Given the description of an element on the screen output the (x, y) to click on. 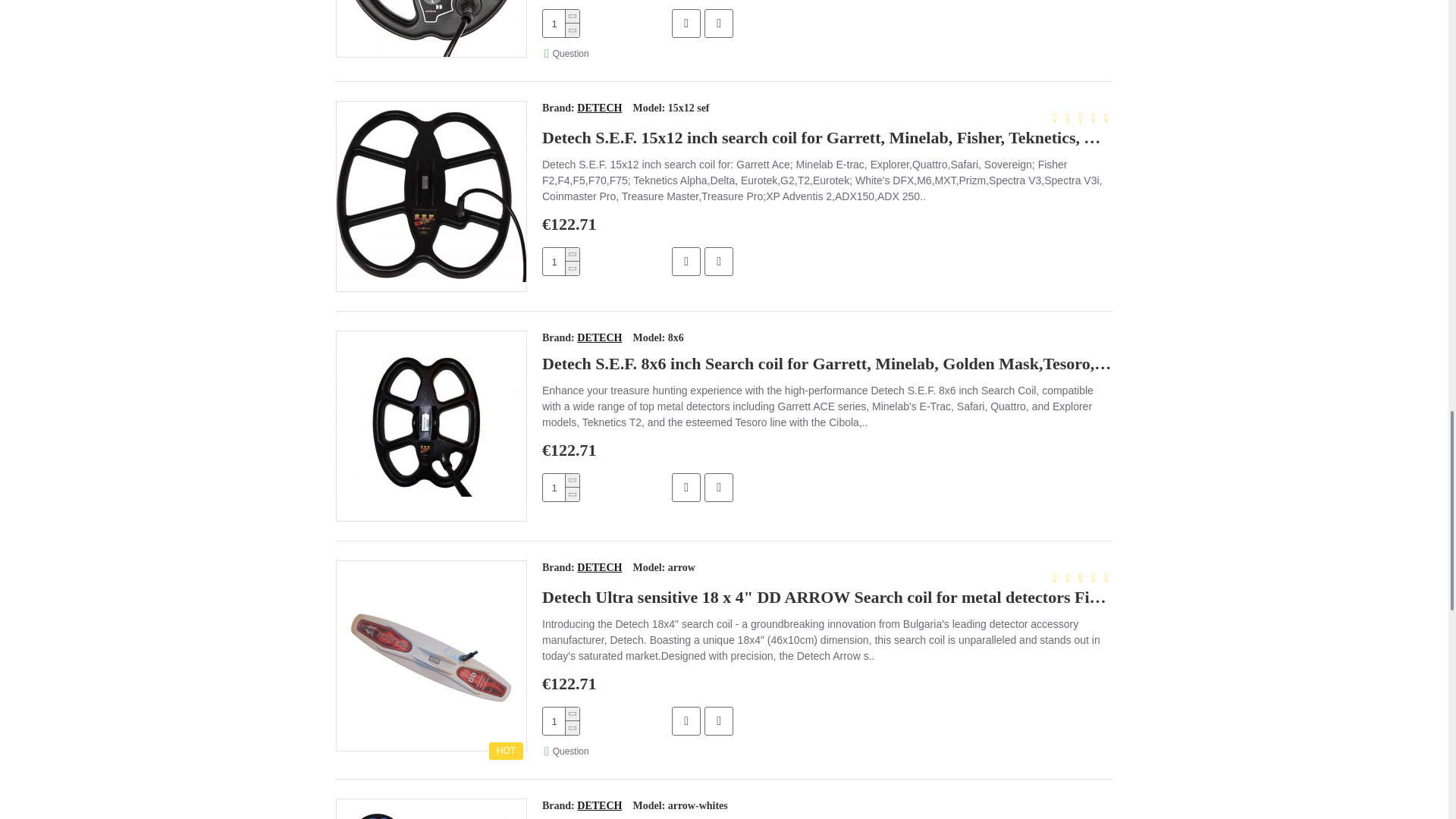
1 (561, 487)
1 (561, 22)
1 (561, 261)
1 (561, 720)
